Given the description of an element on the screen output the (x, y) to click on. 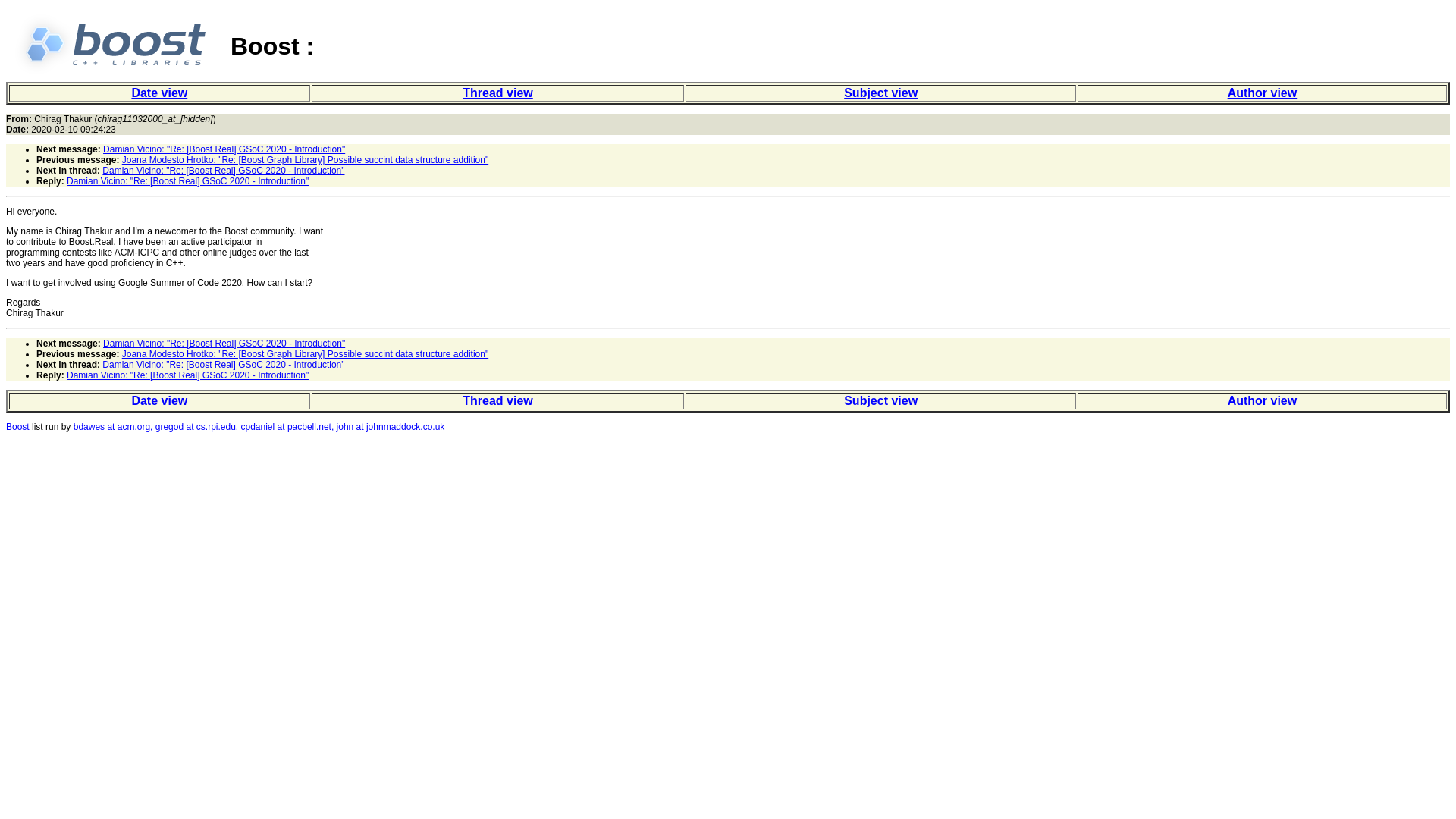
Author view (1262, 92)
Date view (159, 92)
Boost (17, 426)
Subject view (880, 92)
Date view (159, 400)
Thread view (497, 400)
Subject view (880, 400)
Author view (1262, 400)
Thread view (497, 92)
